Given the description of an element on the screen output the (x, y) to click on. 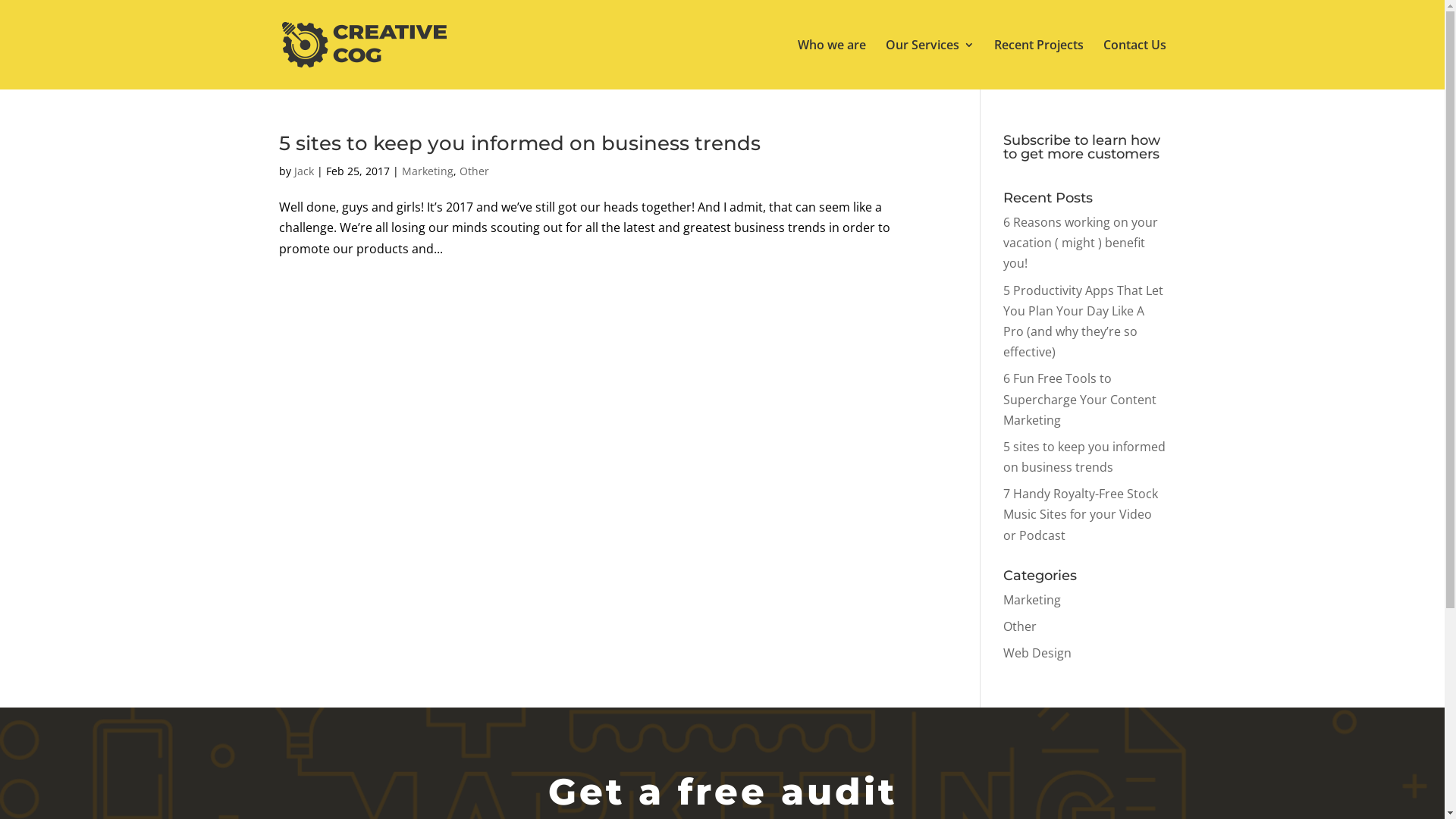
5 sites to keep you informed on business trends Element type: text (1084, 456)
6 Fun Free Tools to Supercharge Your Content Marketing Element type: text (1079, 398)
6 Reasons working on your vacation ( might ) benefit you! Element type: text (1080, 242)
Marketing Element type: text (1031, 599)
Recent Projects Element type: text (1037, 64)
Other Element type: text (1019, 626)
Marketing Element type: text (427, 170)
5 sites to keep you informed on business trends Element type: text (519, 143)
Contact Us Element type: text (1133, 64)
Web Design Element type: text (1037, 652)
Other Element type: text (474, 170)
Our Services Element type: text (929, 64)
Who we are Element type: text (831, 64)
Jack Element type: text (303, 170)
